Given the description of an element on the screen output the (x, y) to click on. 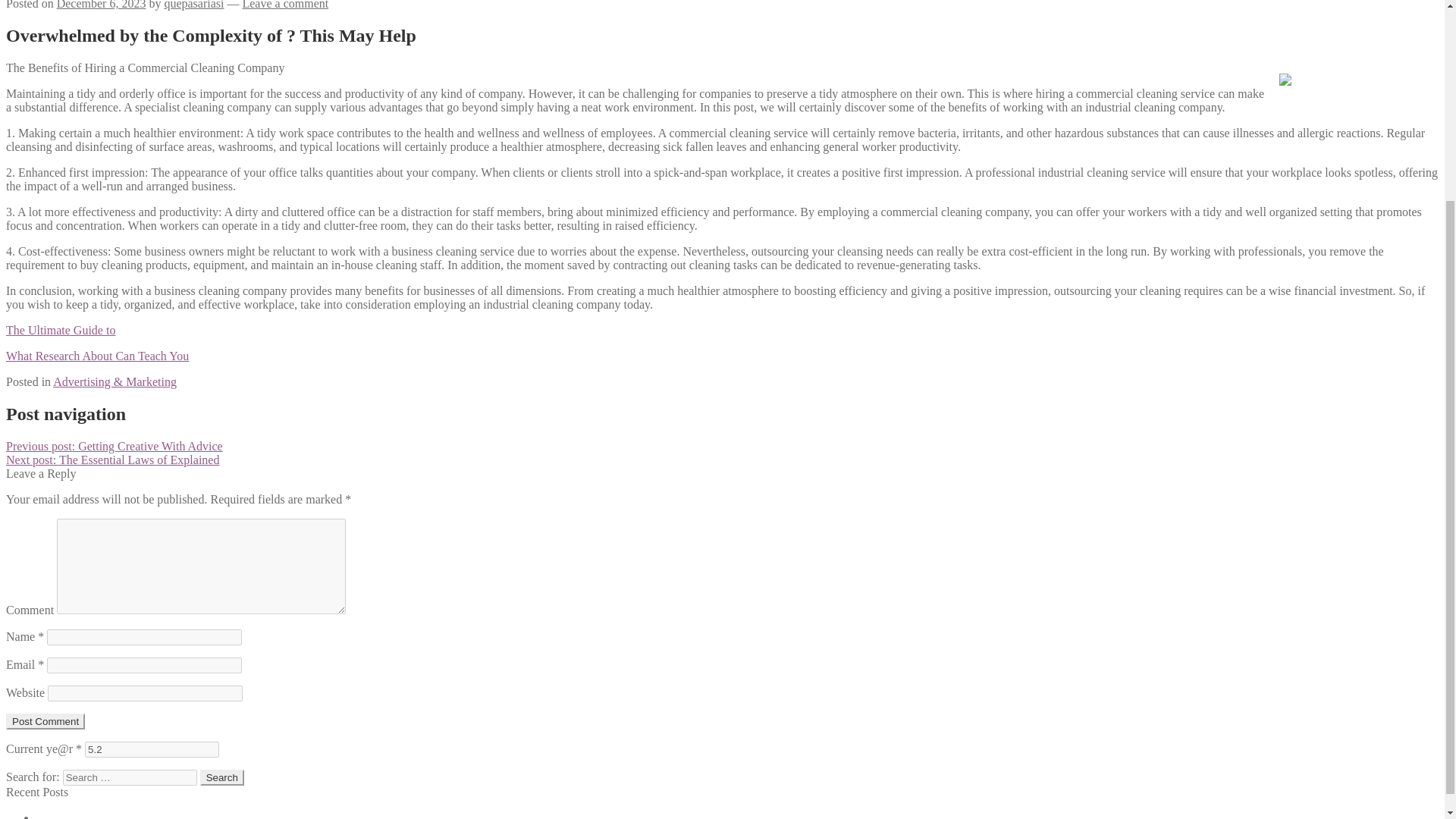
The Ultimate Guide to (60, 329)
Next post: The Essential Laws of Explained (112, 459)
Previous post: Getting Creative With Advice (113, 445)
Leave a comment (285, 4)
5.2 (151, 749)
Search (222, 777)
December 6, 2023 (101, 4)
What Research About Can Teach You (97, 355)
Search (222, 777)
quepasariasi (193, 4)
Post Comment (44, 721)
Search (222, 777)
Post Comment (44, 721)
